Given the description of an element on the screen output the (x, y) to click on. 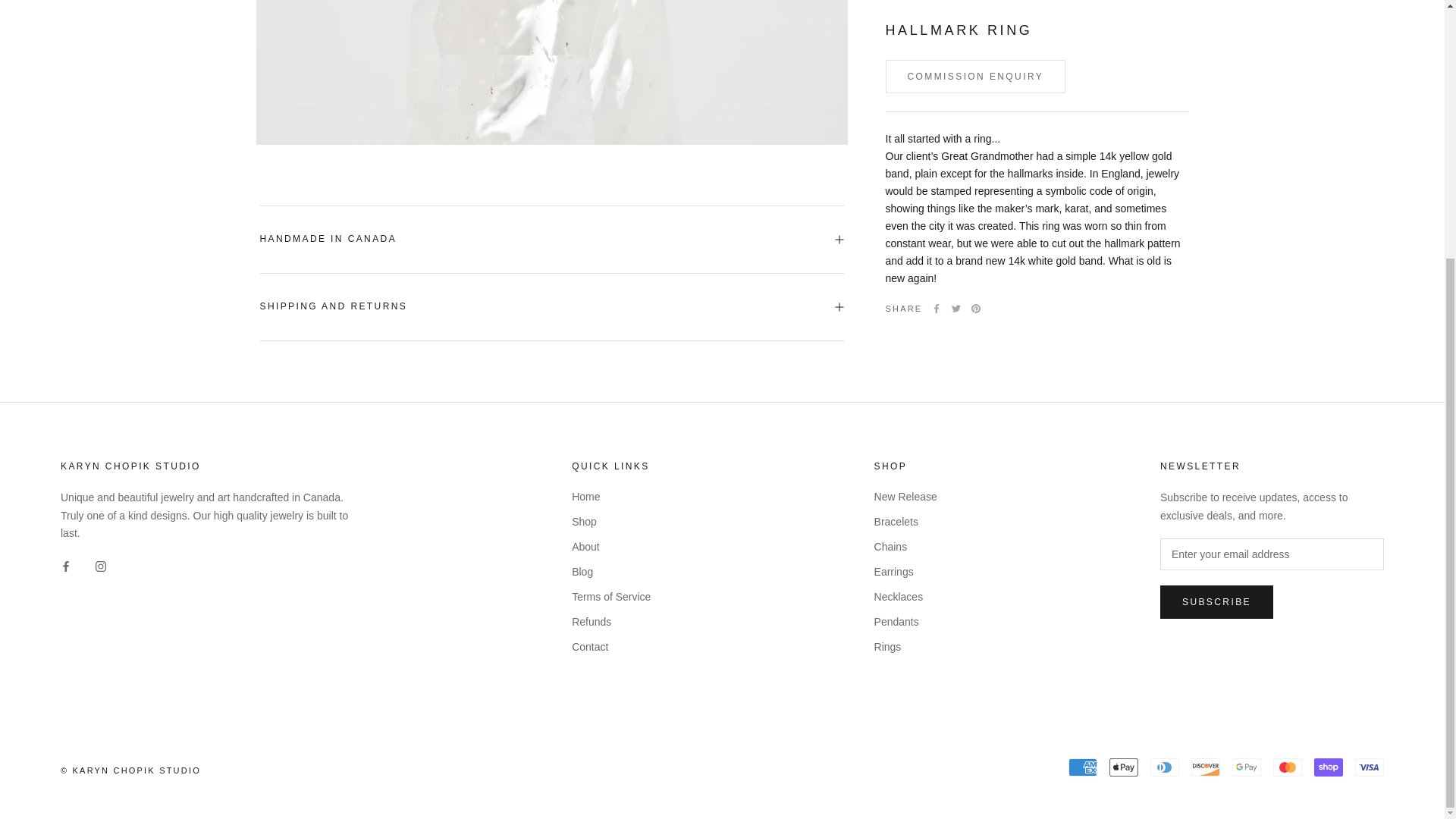
Visa (1369, 767)
Diners Club (1164, 767)
Mastercard (1286, 767)
American Express (1082, 767)
Google Pay (1245, 767)
Apple Pay (1123, 767)
Discover (1205, 767)
Shop Pay (1328, 767)
